Given the description of an element on the screen output the (x, y) to click on. 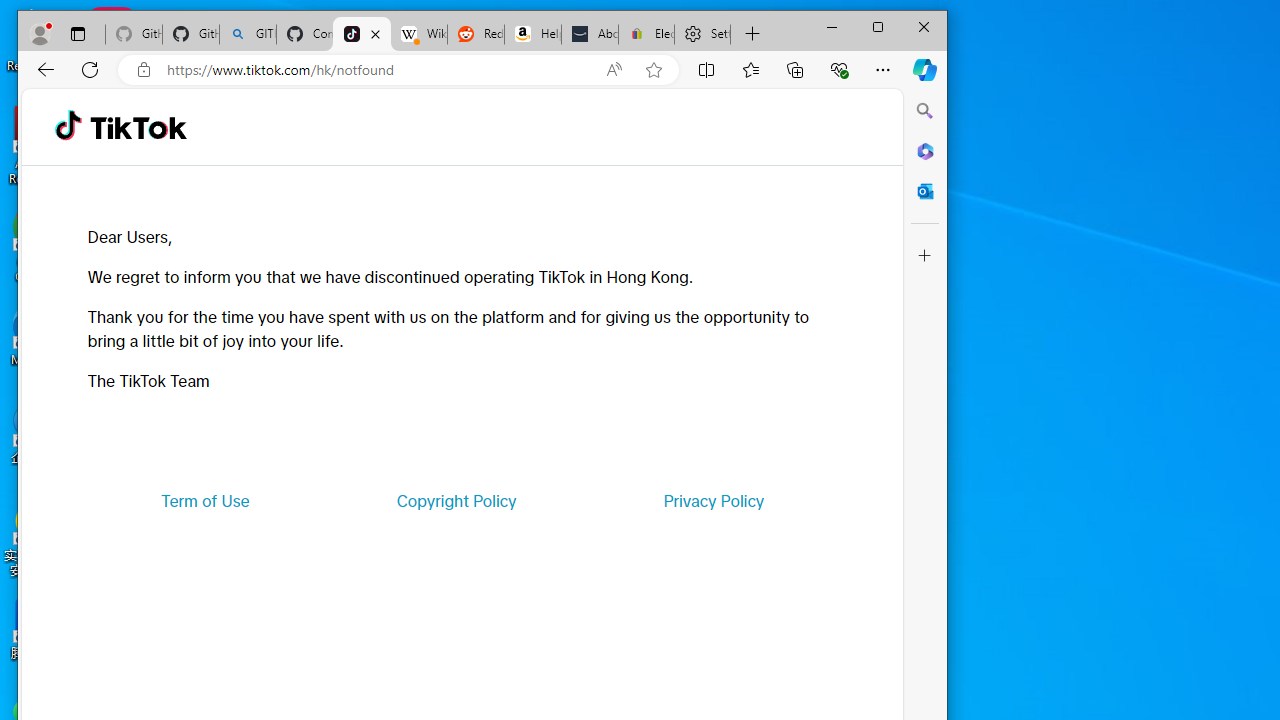
About Amazon (589, 34)
Wikipedia, the free encyclopedia (418, 34)
TikTok (362, 34)
